Given the description of an element on the screen output the (x, y) to click on. 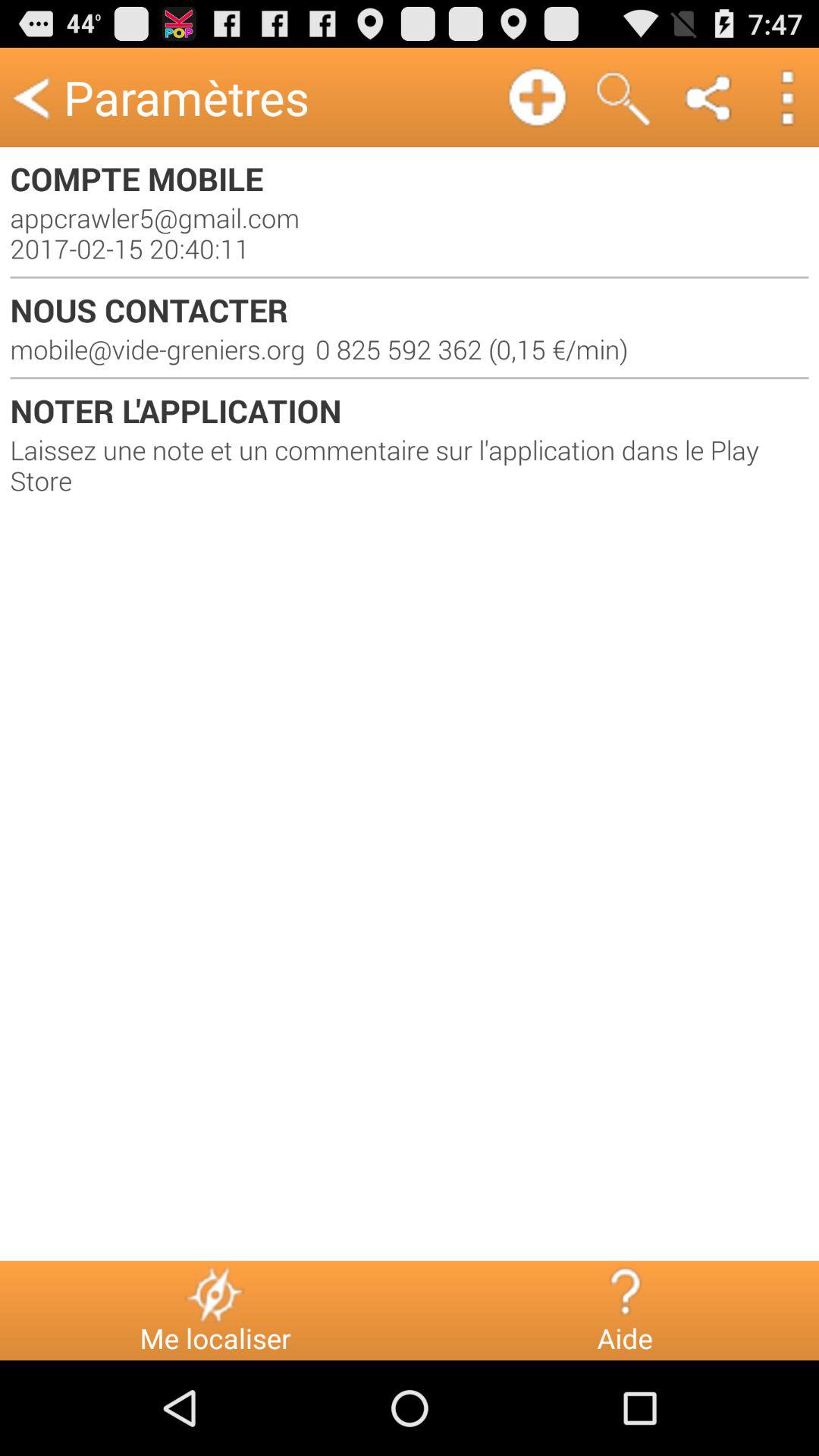
select icon below compte mobile (409, 233)
